Given the description of an element on the screen output the (x, y) to click on. 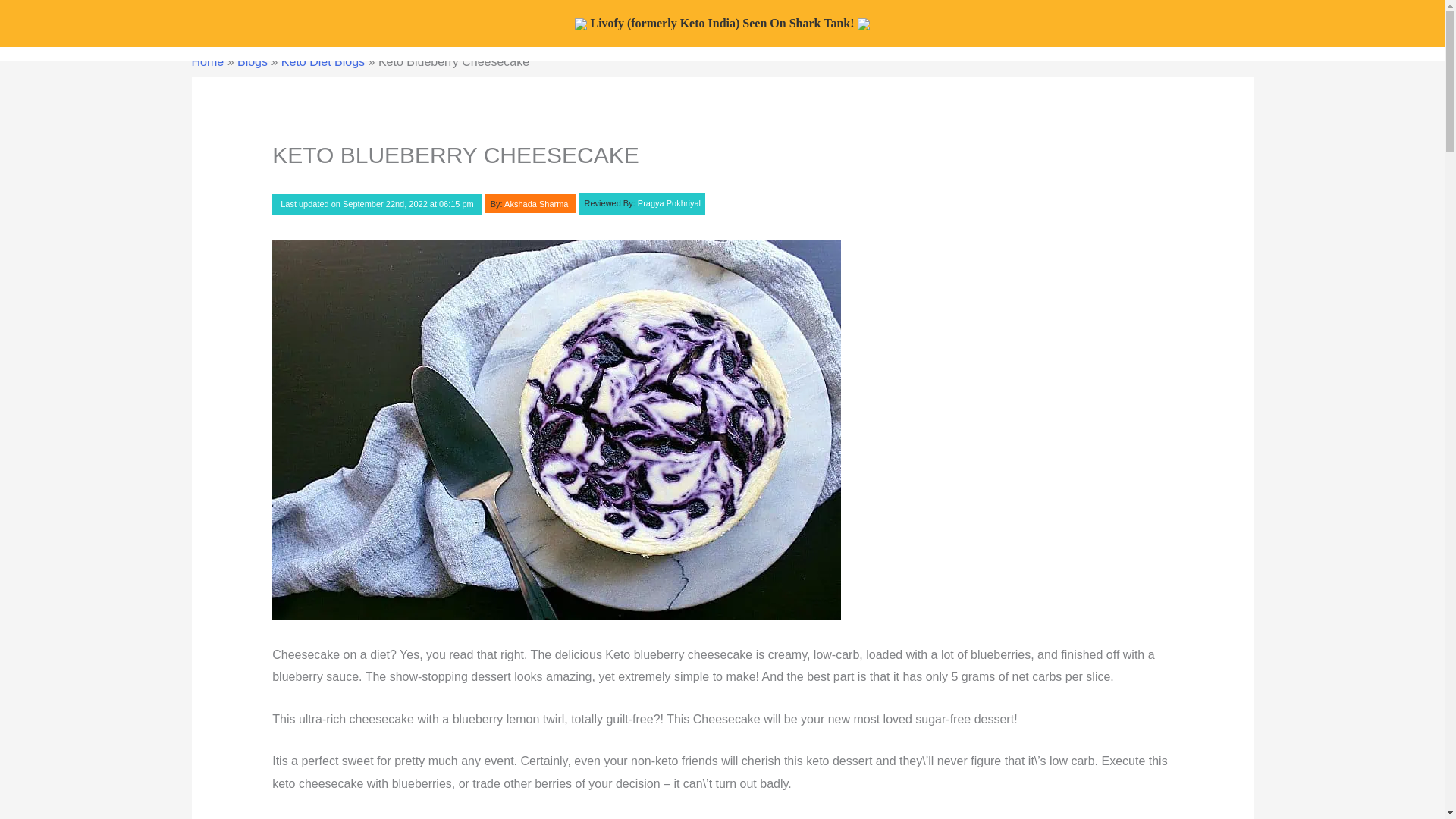
View your shopping cart (1230, 29)
View all posts by Akshada Sharma (529, 203)
Recipes (737, 29)
Care at Livofy (578, 29)
Plans (810, 29)
Blogs (667, 29)
Pragya Pokhriyal (641, 204)
